Given the description of an element on the screen output the (x, y) to click on. 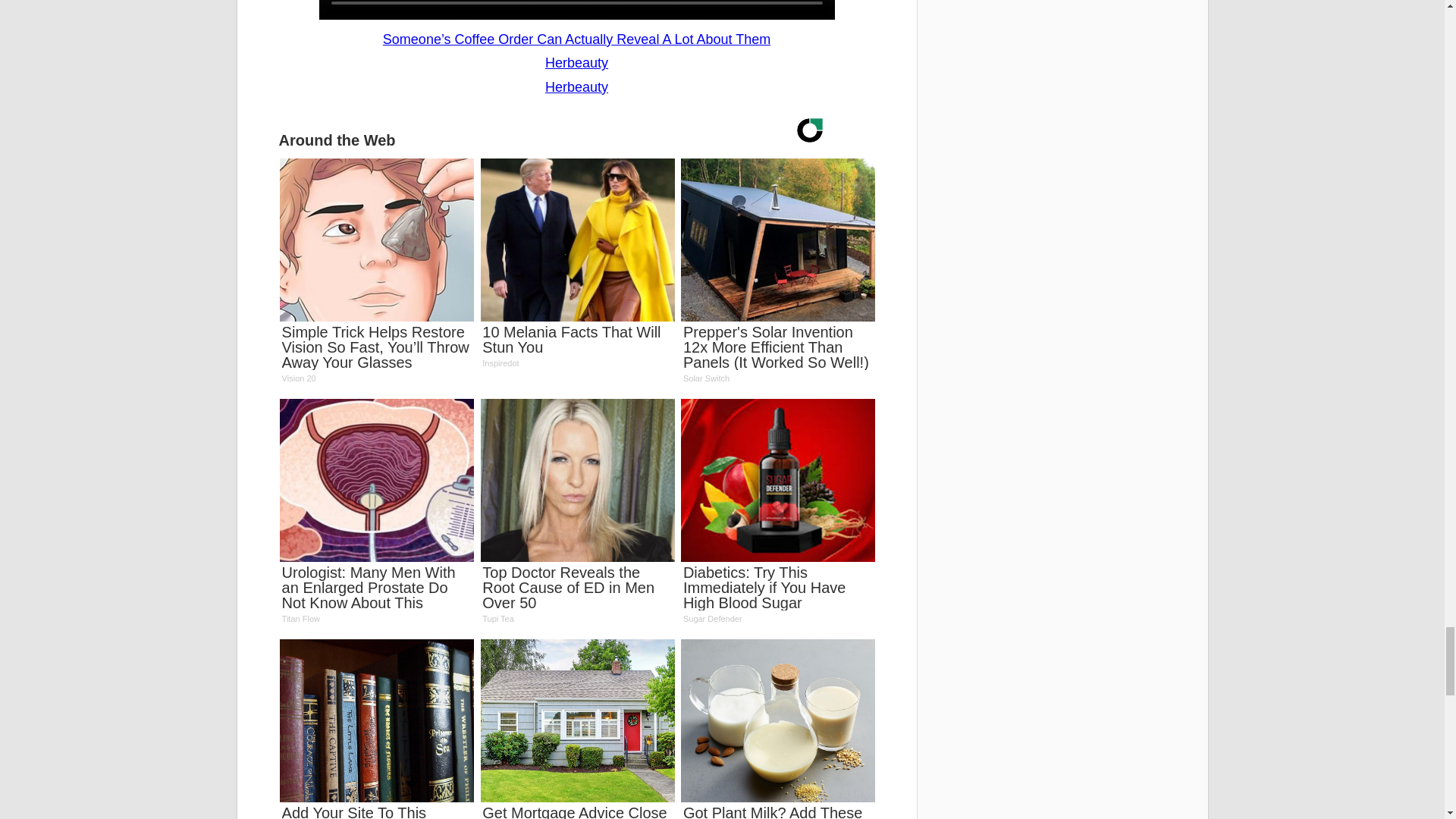
10 Melania Facts That Will Stun You (577, 268)
Add Your Site To This Directory (376, 729)
Get Mortgage Advice Close to Home (577, 268)
Get Mortgage Advice Close to Home (376, 729)
